Given the description of an element on the screen output the (x, y) to click on. 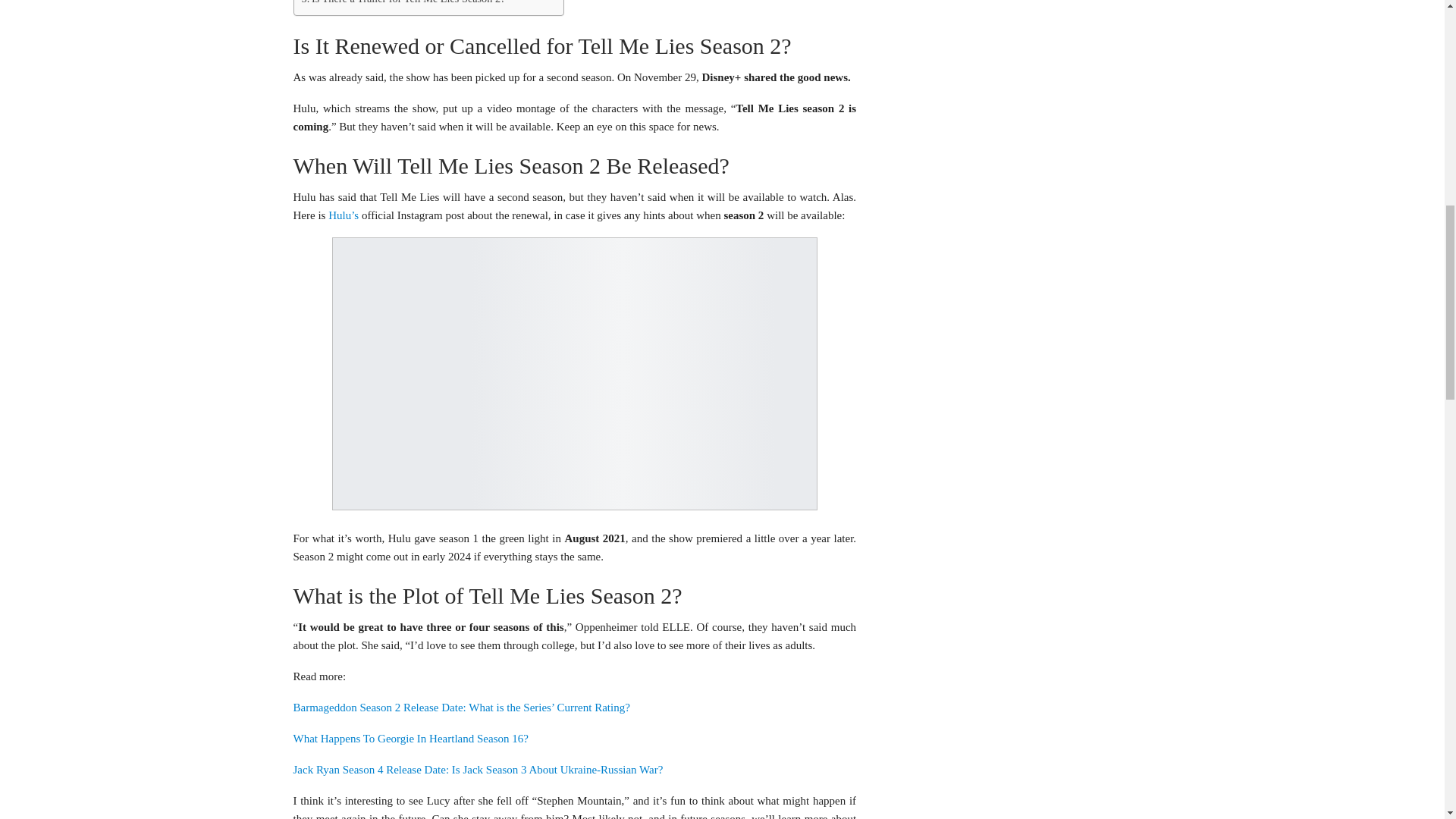
Is There a Trailer for Tell Me Lies Season 2? (403, 3)
